Given the description of an element on the screen output the (x, y) to click on. 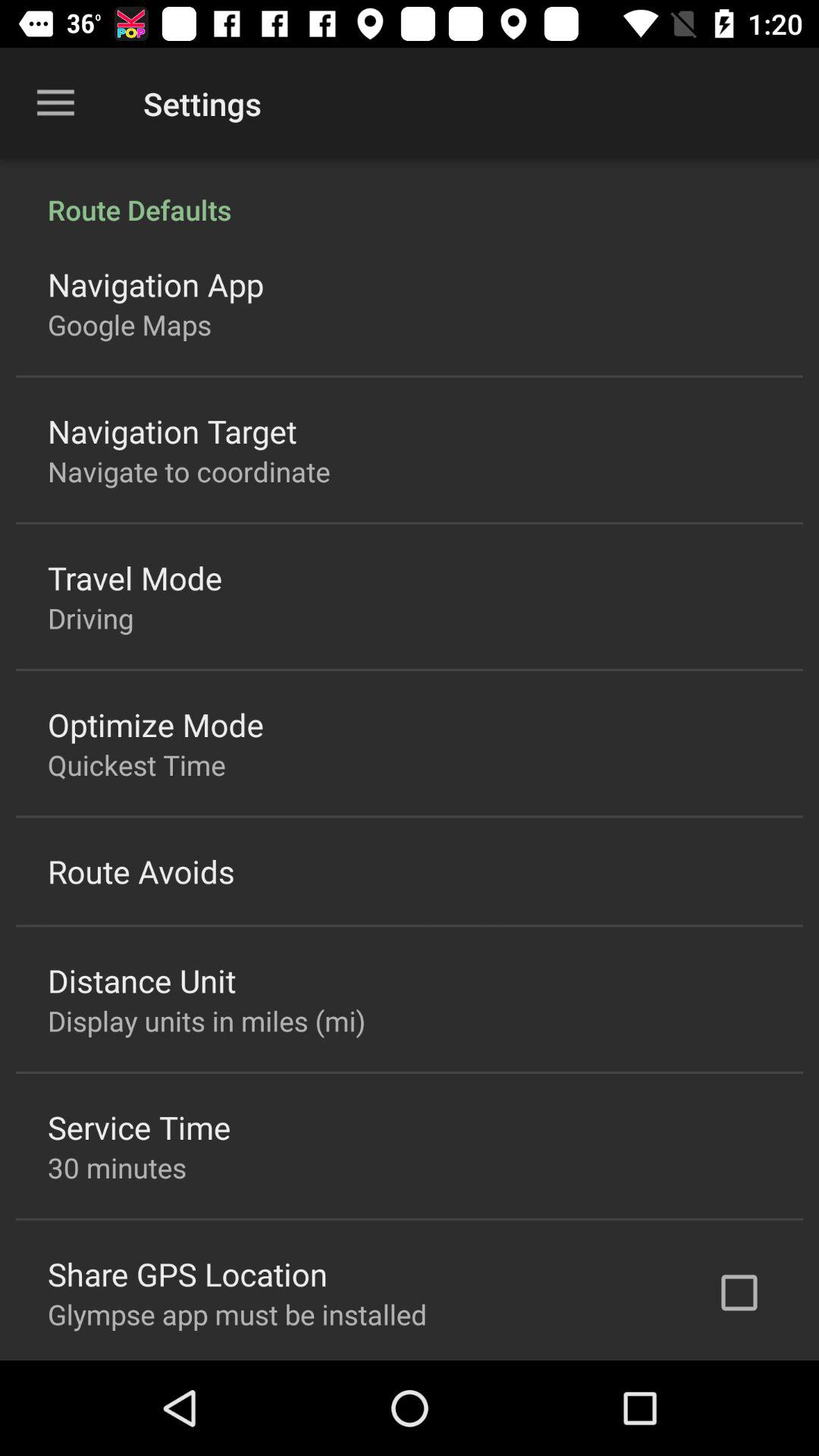
flip until the travel mode item (134, 577)
